Given the description of an element on the screen output the (x, y) to click on. 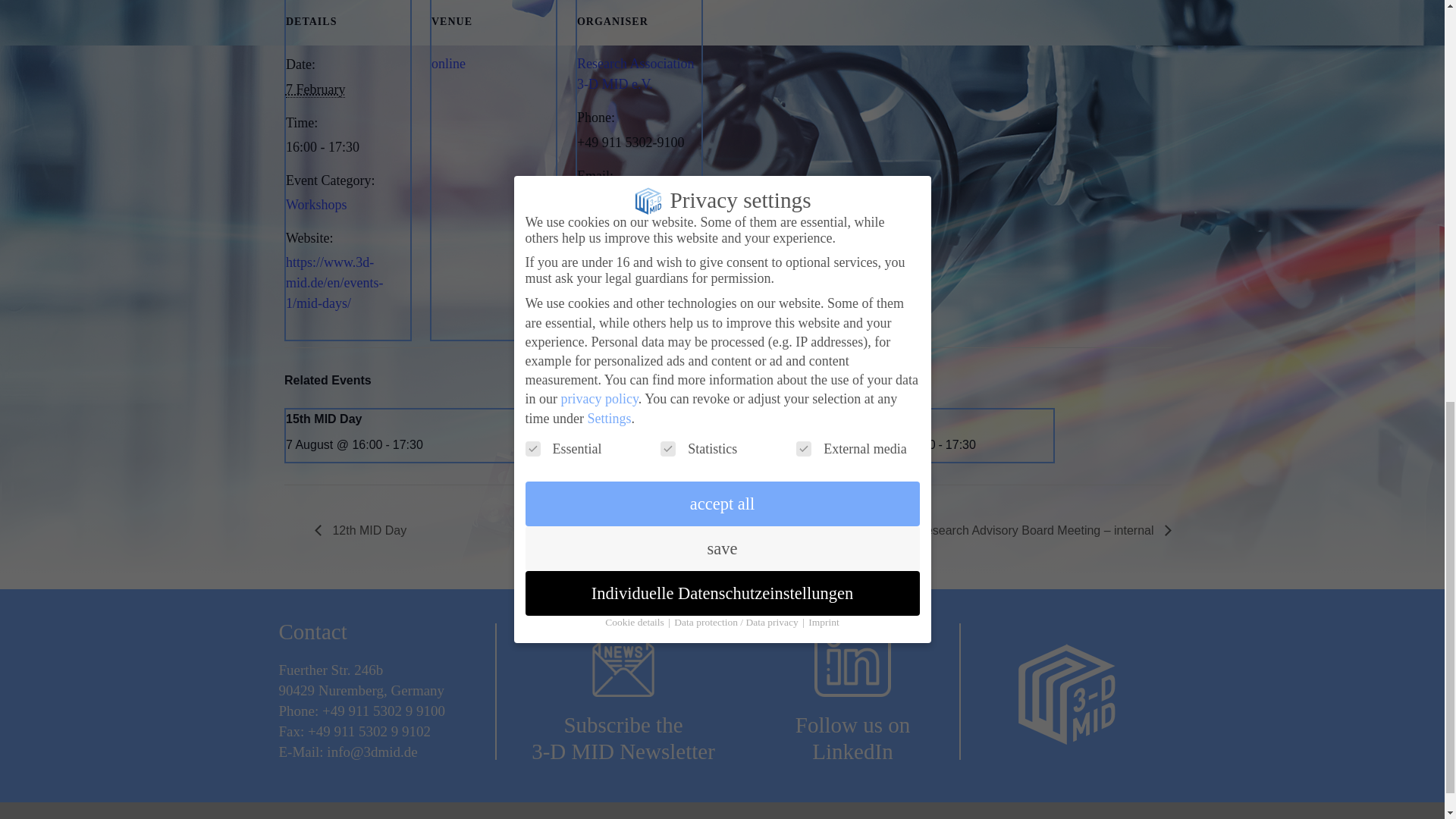
Research Association 3-D MID e.V. (635, 73)
2024-02-07 (347, 147)
2024-02-07 (315, 89)
